Given the description of an element on the screen output the (x, y) to click on. 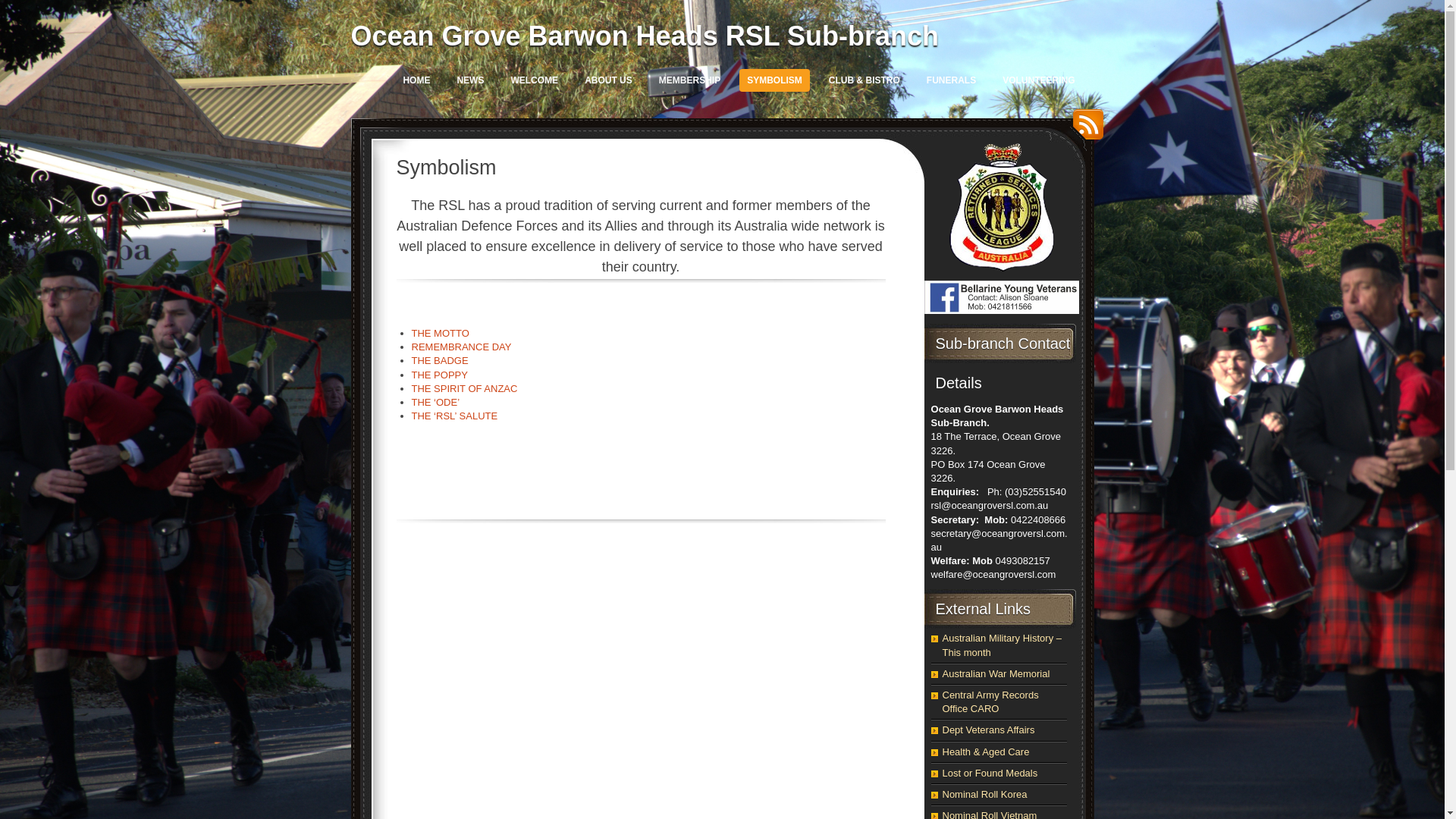
RSS Element type: text (1083, 129)
FUNERALS Element type: text (951, 80)
Central Army Records Office CARO Element type: text (989, 701)
WELCOME Element type: text (533, 80)
CLUB & BISTRO Element type: text (864, 80)
REMEMBRANCE DAY Element type: text (461, 346)
Dept Veterans Affairs Element type: text (987, 729)
VOLUNTEERING Element type: text (1038, 80)
THE POPPY Element type: text (439, 374)
MEMBERSHIP Element type: text (689, 80)
THE SPIRIT OF ANZAC Element type: text (464, 388)
HOME Element type: text (416, 80)
Australian War Memorial Element type: text (995, 673)
SYMBOLISM Element type: text (774, 80)
THE MOTTO Element type: text (439, 332)
ABOUT US Element type: text (608, 80)
Lost or Found Medals Element type: text (989, 772)
Nominal Roll Korea Element type: text (983, 794)
Ocean Grove Barwon Heads RSL Sub-branch Element type: text (644, 35)
NEWS Element type: text (469, 80)
THE BADGE Element type: text (439, 360)
Health & Aged Care Element type: text (985, 751)
